Given the description of an element on the screen output the (x, y) to click on. 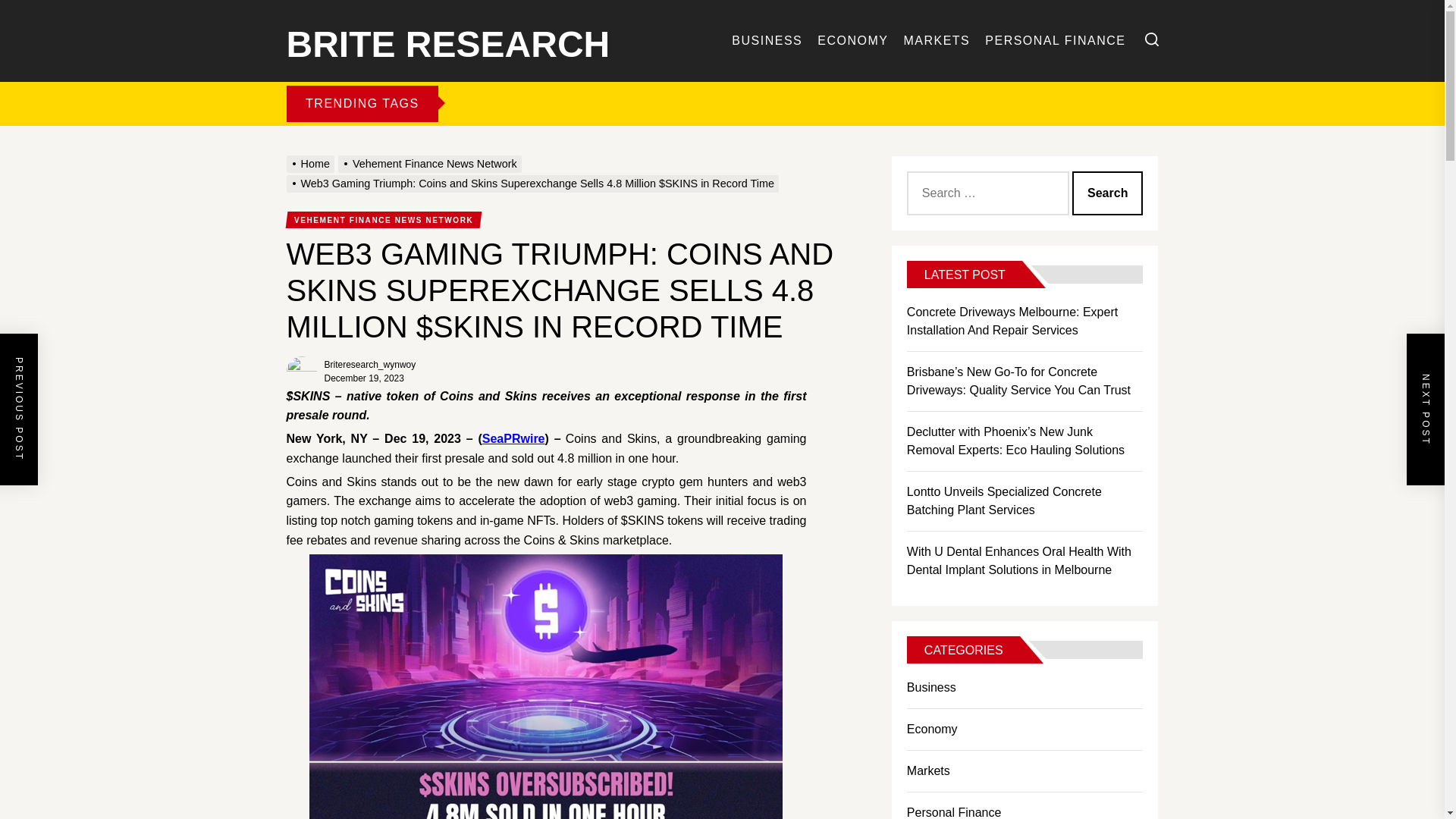
Search (1106, 193)
MARKETS (935, 40)
Vehement Finance News Network (431, 163)
PERSONAL FINANCE (1055, 40)
BUSINESS (767, 40)
December 19, 2023 (364, 378)
VEHEMENT FINANCE NEWS NETWORK (382, 219)
Home (311, 163)
Search (1106, 193)
ECONOMY (852, 40)
SeaPRwire (512, 439)
BRITE RESEARCH (448, 40)
